Given the description of an element on the screen output the (x, y) to click on. 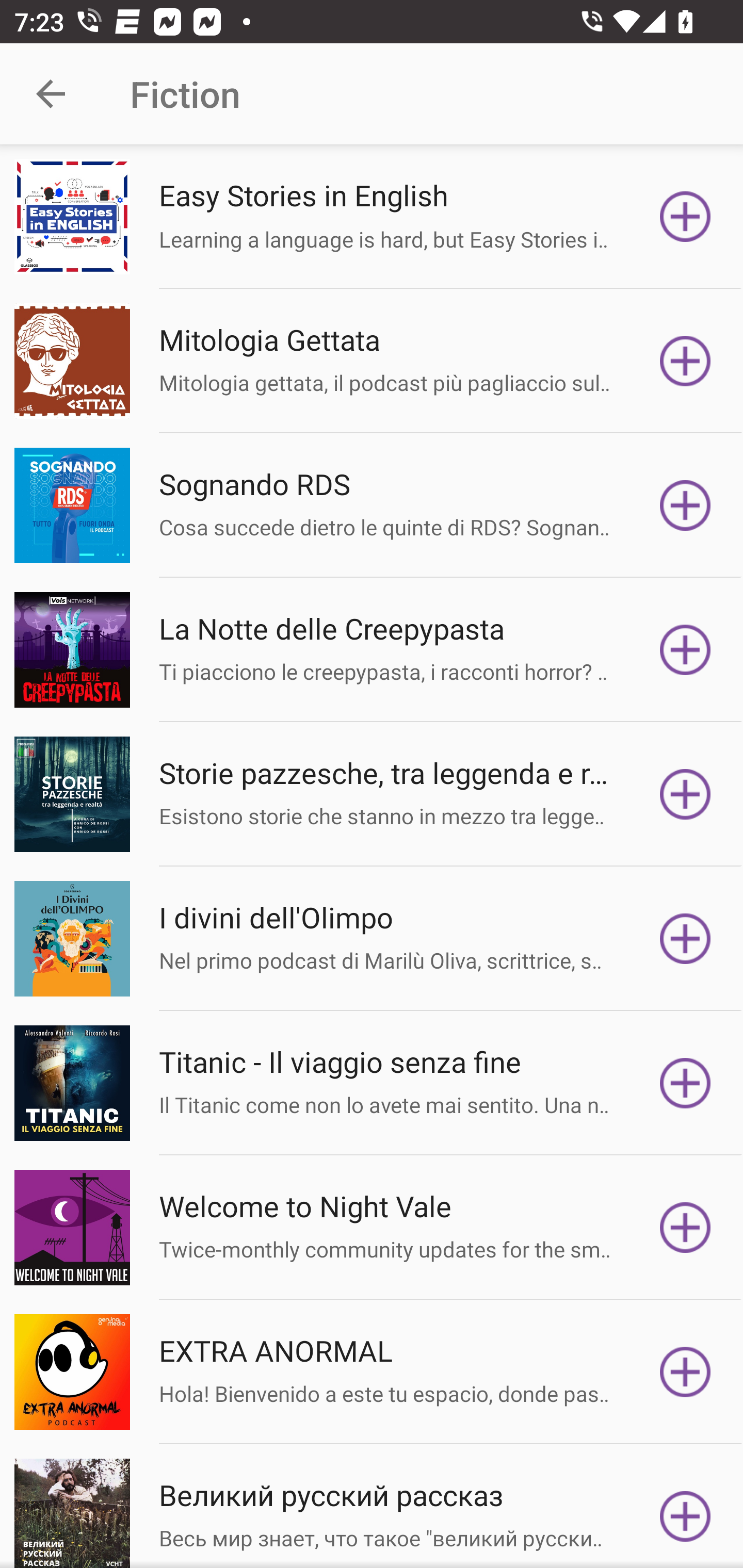
Navigate up (50, 93)
Subscribe (685, 216)
Subscribe (685, 360)
Subscribe (685, 505)
Subscribe (685, 649)
Subscribe (685, 793)
Subscribe (685, 939)
Subscribe (685, 1083)
Subscribe (685, 1227)
Subscribe (685, 1371)
Subscribe (685, 1513)
